Given the description of an element on the screen output the (x, y) to click on. 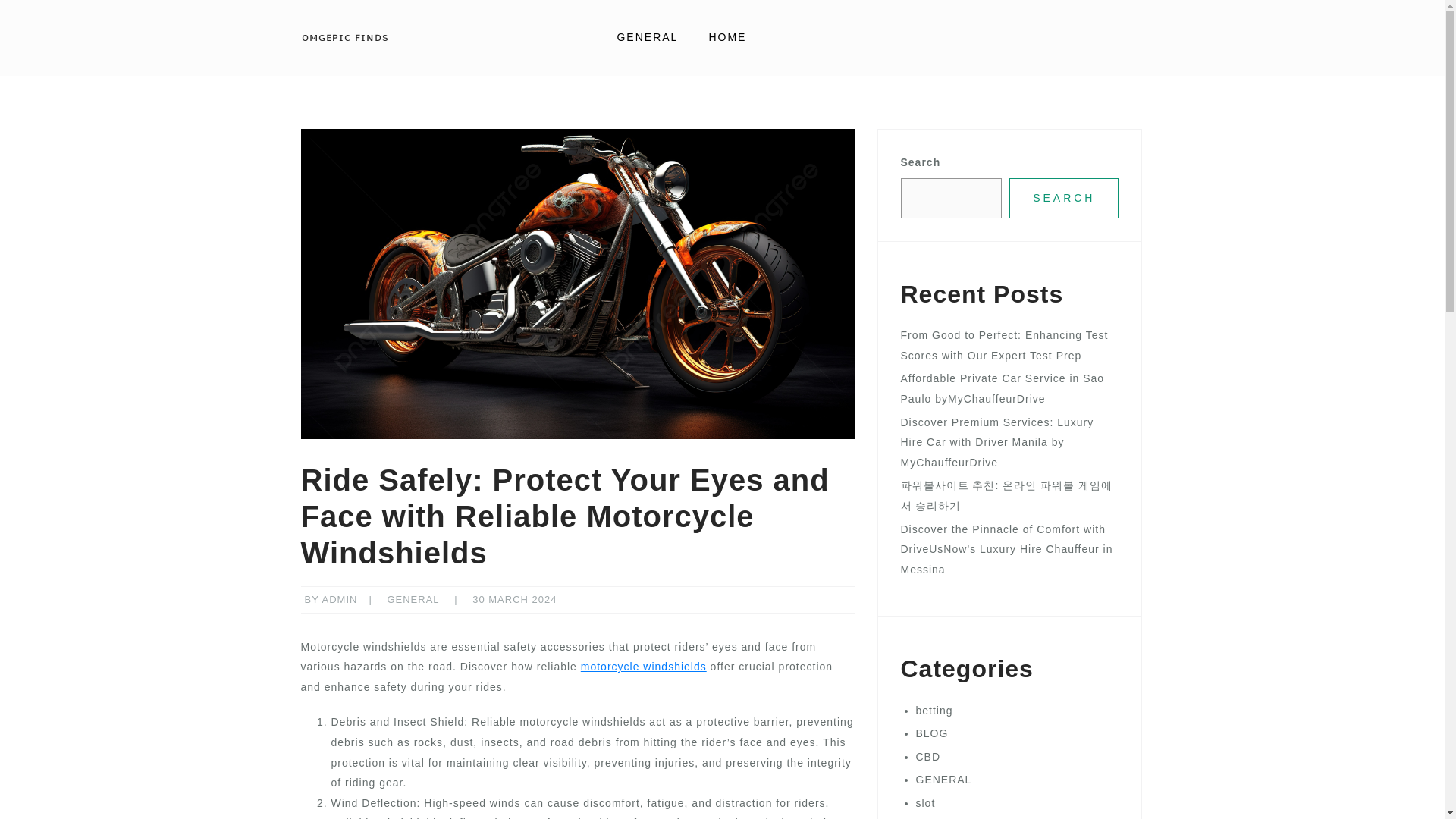
slot (925, 802)
CBD (927, 756)
GENERAL (413, 599)
ADMIN (339, 599)
motorcycle windshields (643, 666)
HOME (726, 37)
GENERAL (646, 37)
GENERAL (943, 779)
betting (934, 710)
SEARCH (1063, 198)
BLOG (932, 733)
